Given the description of an element on the screen output the (x, y) to click on. 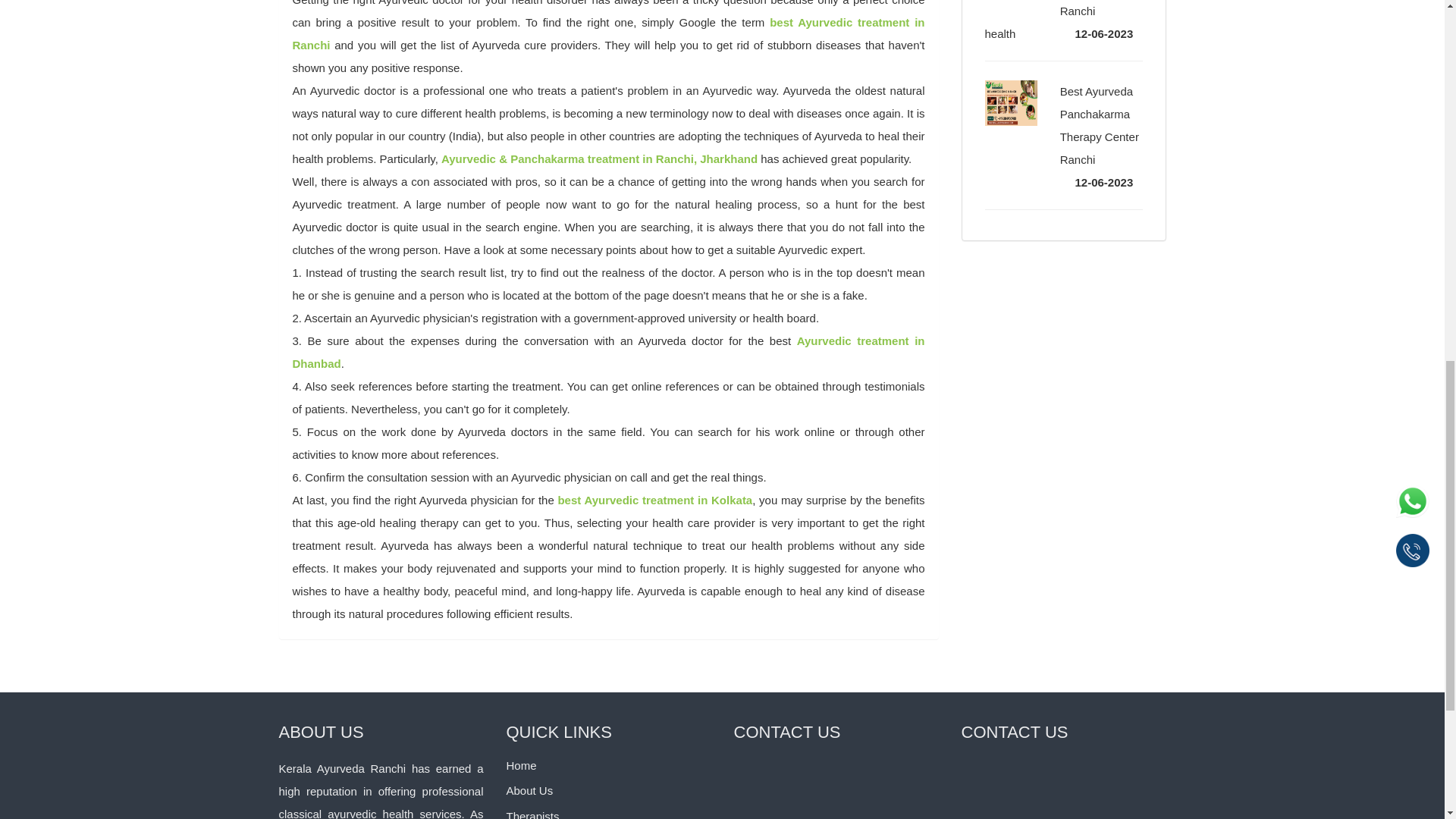
Ayurvedic treatment in Dhanbad (608, 352)
best Ayurvedic treatment in Kolkata (654, 499)
best Ayurvedic treatment in Ranchi (608, 33)
